Given the description of an element on the screen output the (x, y) to click on. 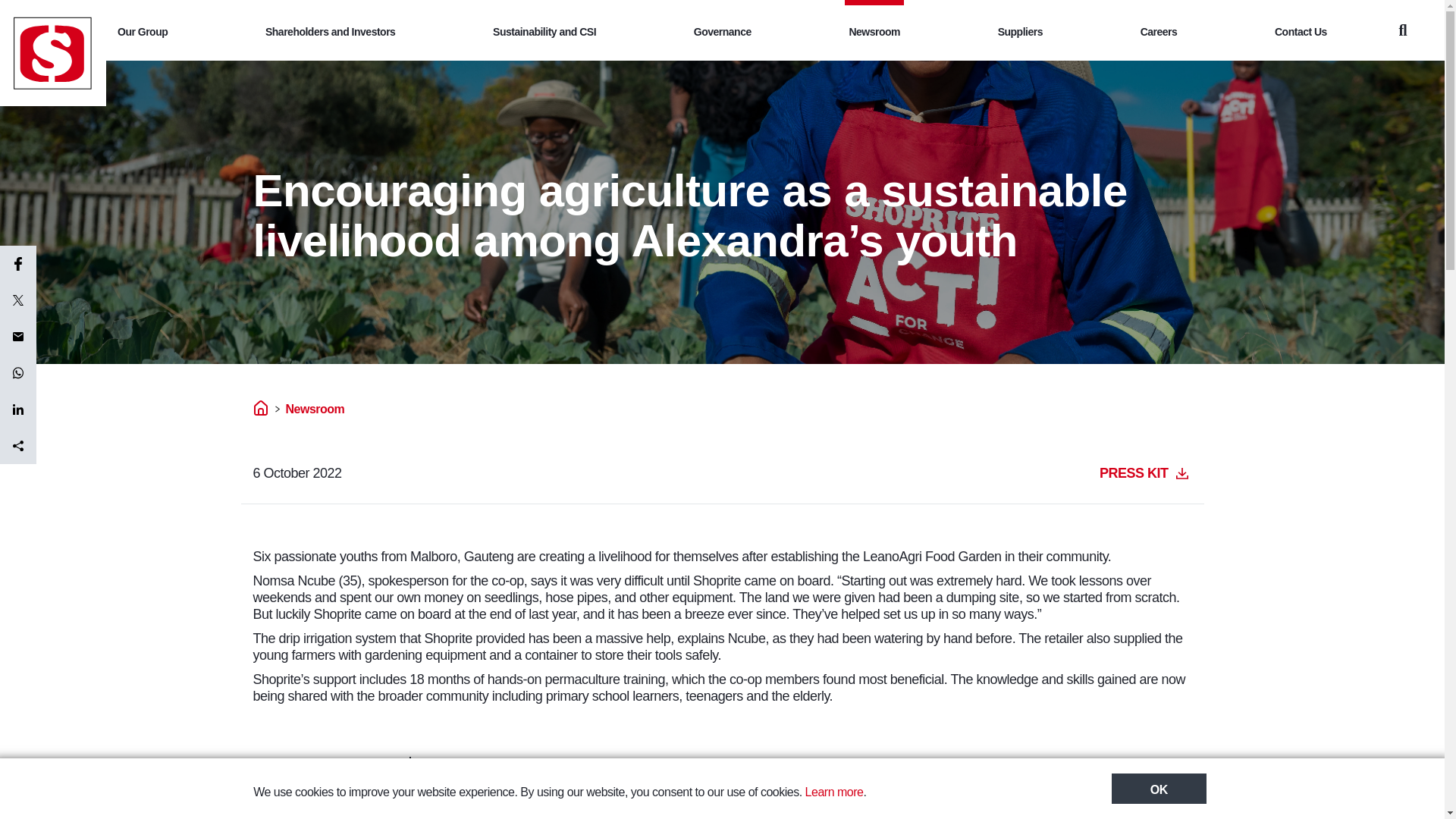
Governance (722, 30)
Our Group (142, 30)
Sustainability and CSI (544, 30)
Learn more (834, 791)
Shareholders and Investors (330, 30)
Newsroom (874, 30)
OK (1159, 788)
